Given the description of an element on the screen output the (x, y) to click on. 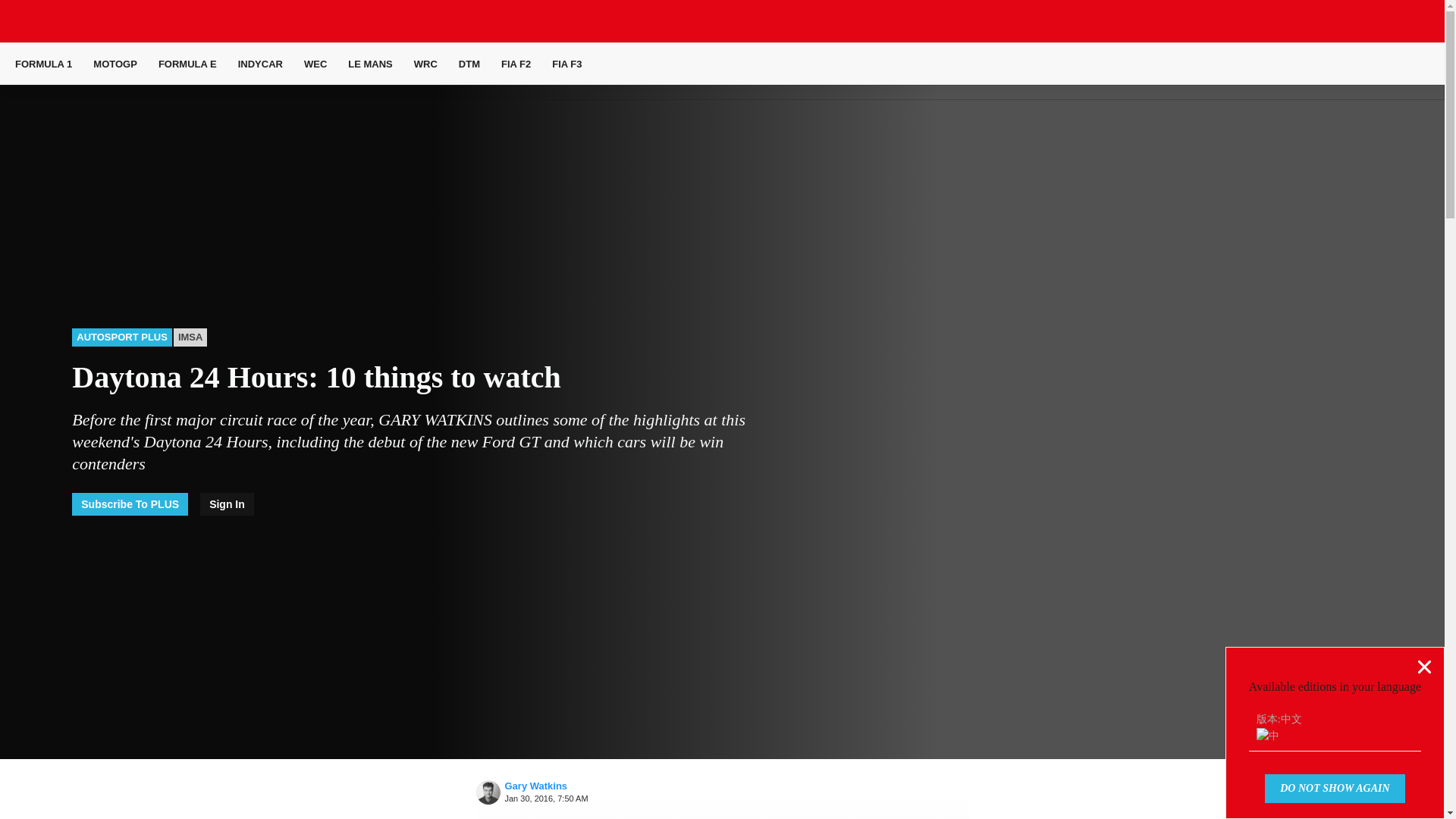
FORMULA E (187, 64)
FORMULA 1 (42, 64)
Gary Watkins (488, 792)
LE MANS (370, 64)
INDYCAR (260, 64)
MOTOGP (114, 64)
